Given the description of an element on the screen output the (x, y) to click on. 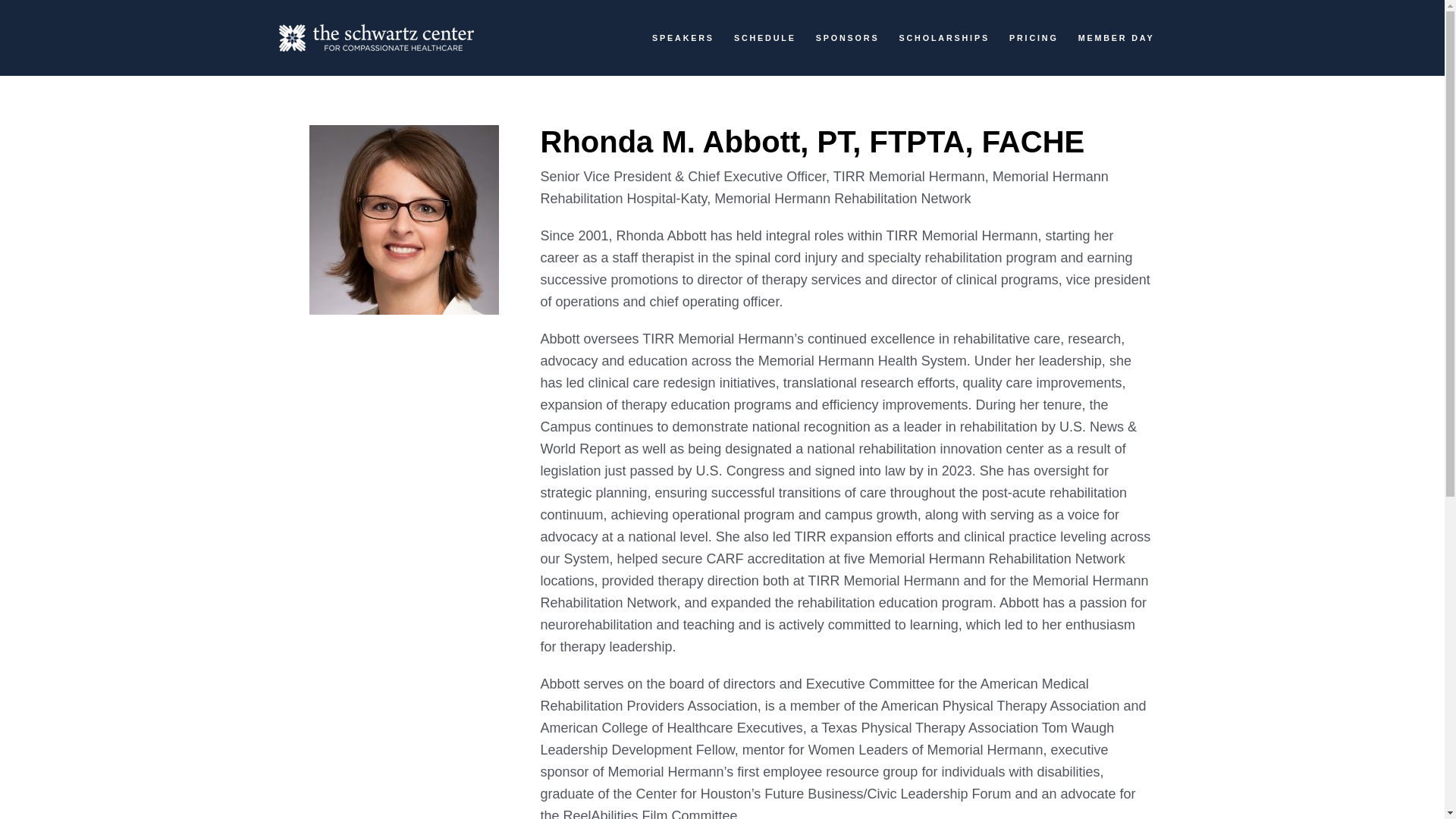
SPEAKERS (683, 38)
Search (964, 99)
SPONSORS (847, 38)
PRICING (1033, 38)
SCHEDULE (764, 38)
SCHOLARSHIPS (943, 38)
MEMBER DAY (1116, 38)
